Given the description of an element on the screen output the (x, y) to click on. 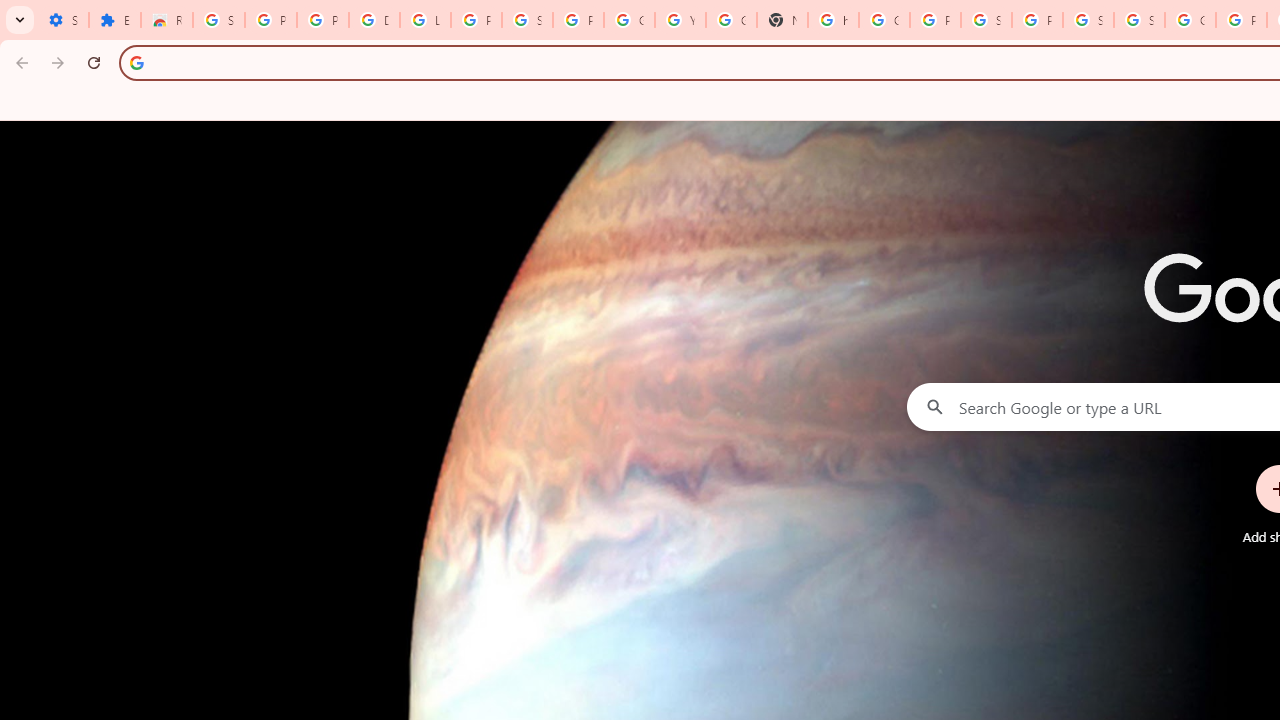
Settings - On startup (63, 20)
https://scholar.google.com/ (832, 20)
Delete photos & videos - Computer - Google Photos Help (374, 20)
Sign in - Google Accounts (526, 20)
Reviews: Helix Fruit Jump Arcade Game (166, 20)
Sign in - Google Accounts (218, 20)
Google Account (629, 20)
Learn how to find your photos - Google Photos Help (424, 20)
